Given the description of an element on the screen output the (x, y) to click on. 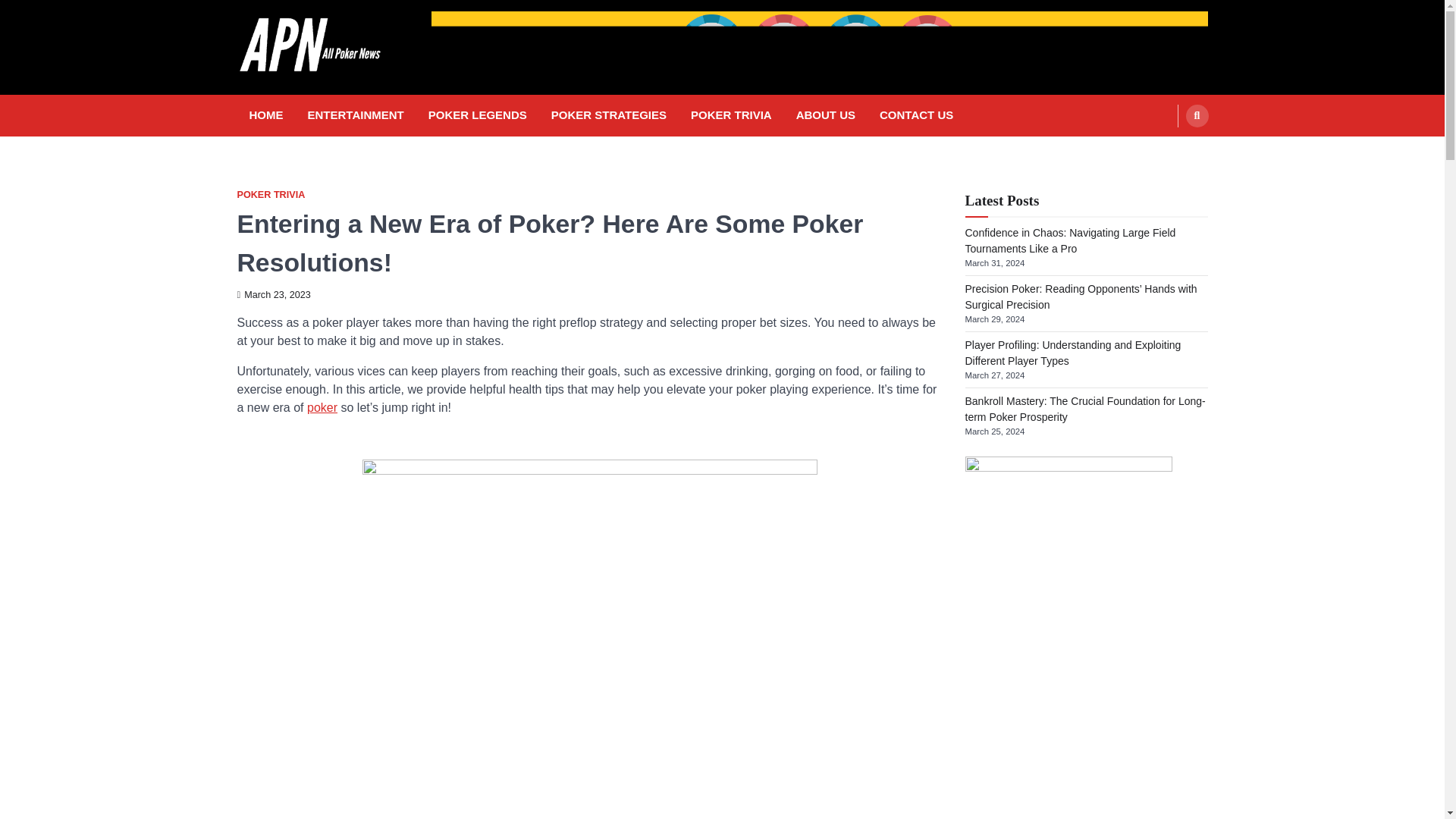
POKER STRATEGIES (608, 115)
HOME (265, 115)
March 23, 2023 (272, 294)
poker (322, 407)
All-PokerNews (318, 98)
Search (1168, 151)
Search (1197, 115)
ENTERTAINMENT (355, 115)
